Given the description of an element on the screen output the (x, y) to click on. 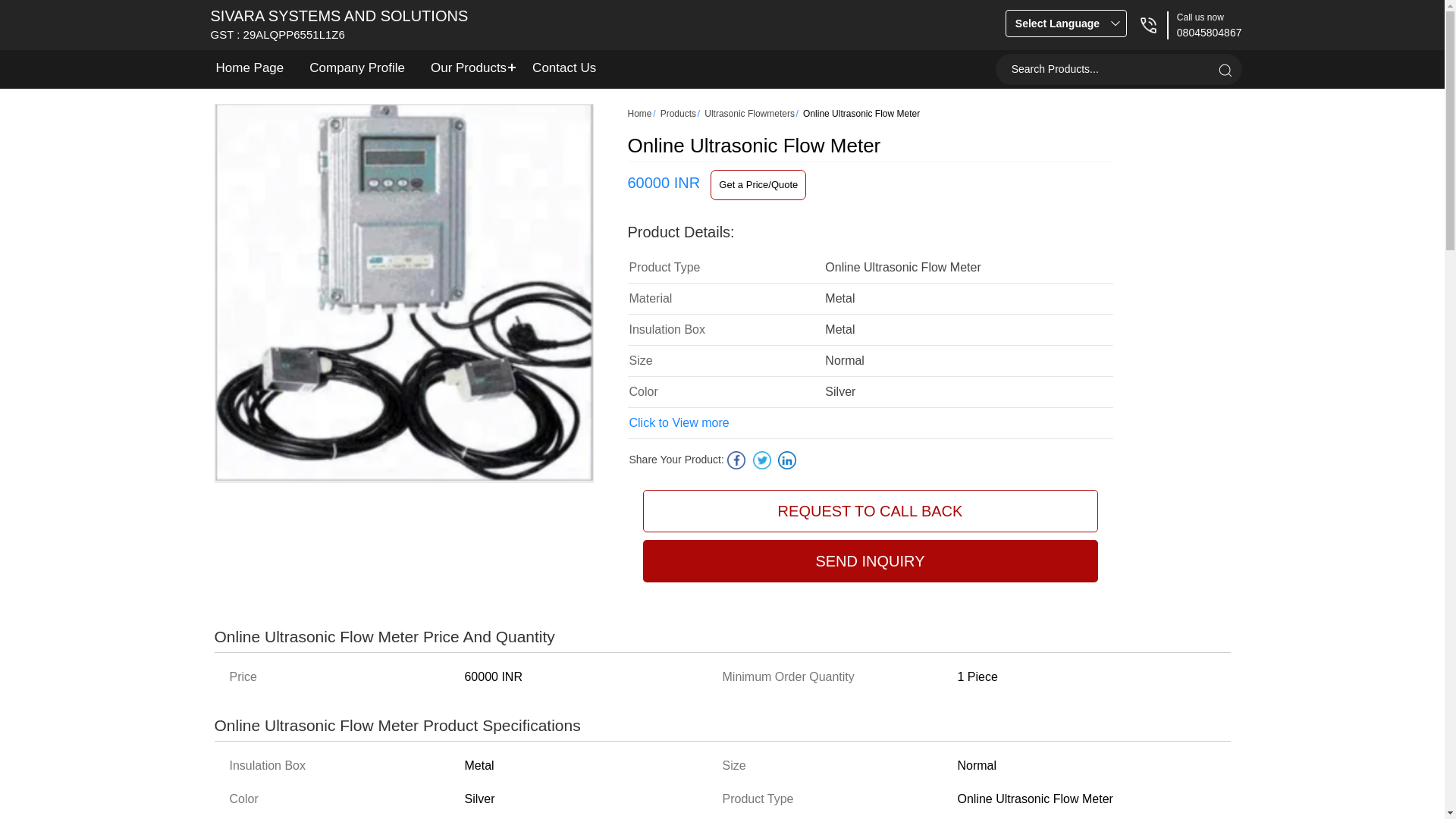
Search Products... (1103, 69)
Select Language (1065, 23)
Search (1224, 70)
Our Products (468, 67)
Company Profile (357, 67)
Contact Us (563, 67)
Ultrasonic Flowmeters (749, 113)
Home Page (250, 67)
Search Products... (1103, 69)
Home (639, 113)
